Given the description of an element on the screen output the (x, y) to click on. 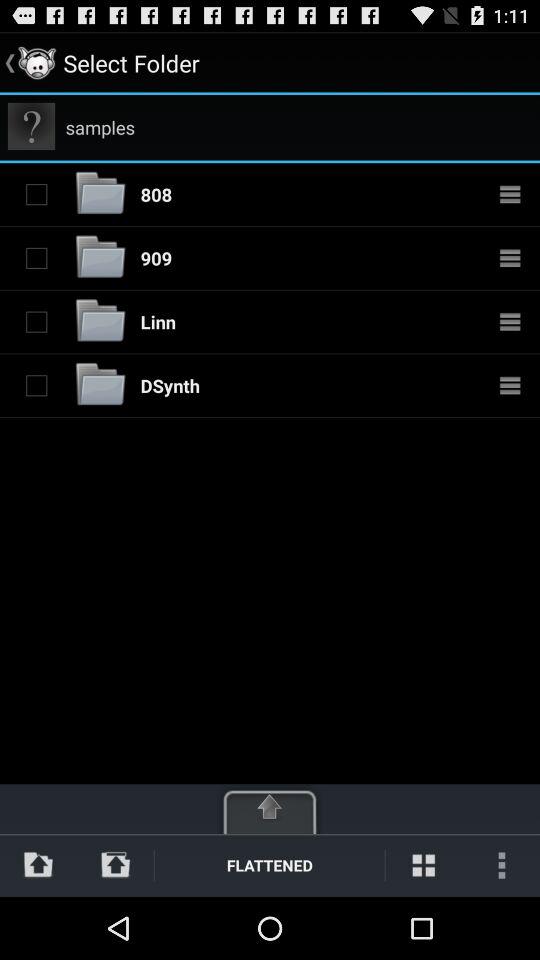
select icon to the left of the flattened icon (115, 864)
